Given the description of an element on the screen output the (x, y) to click on. 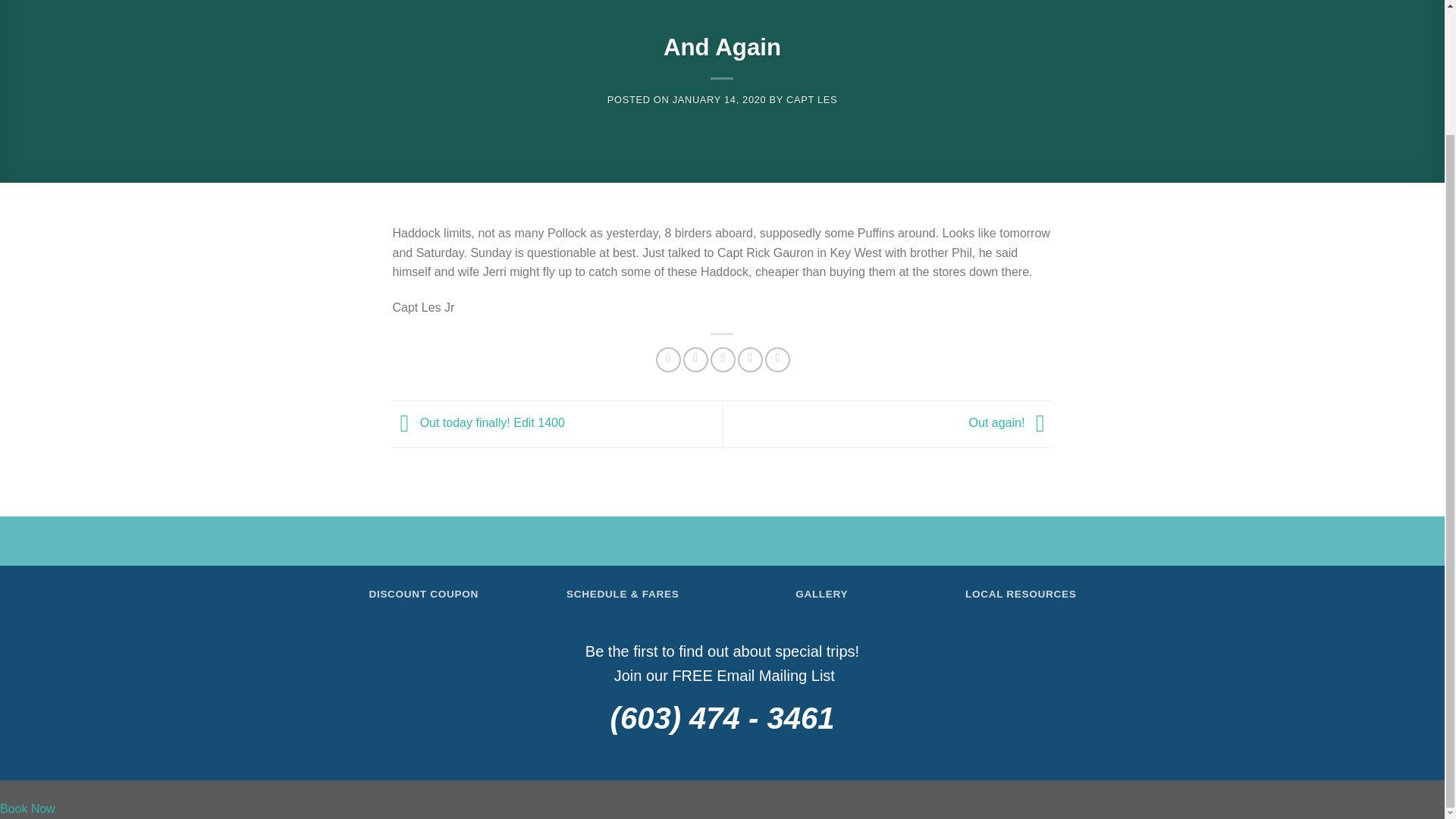
DISCOUNT COUPON (423, 593)
Share on LinkedIn (777, 359)
Share on Facebook (668, 359)
Pin on Pinterest (750, 359)
CAPT LES (811, 98)
Email to a Friend (722, 359)
LOCAL RESOURCES (1021, 593)
GALLERY (820, 593)
Out again! (1010, 422)
Share on Twitter (694, 359)
Out today finally! Edit 1400 (478, 422)
JANUARY 14, 2020 (719, 98)
